Given the description of an element on the screen output the (x, y) to click on. 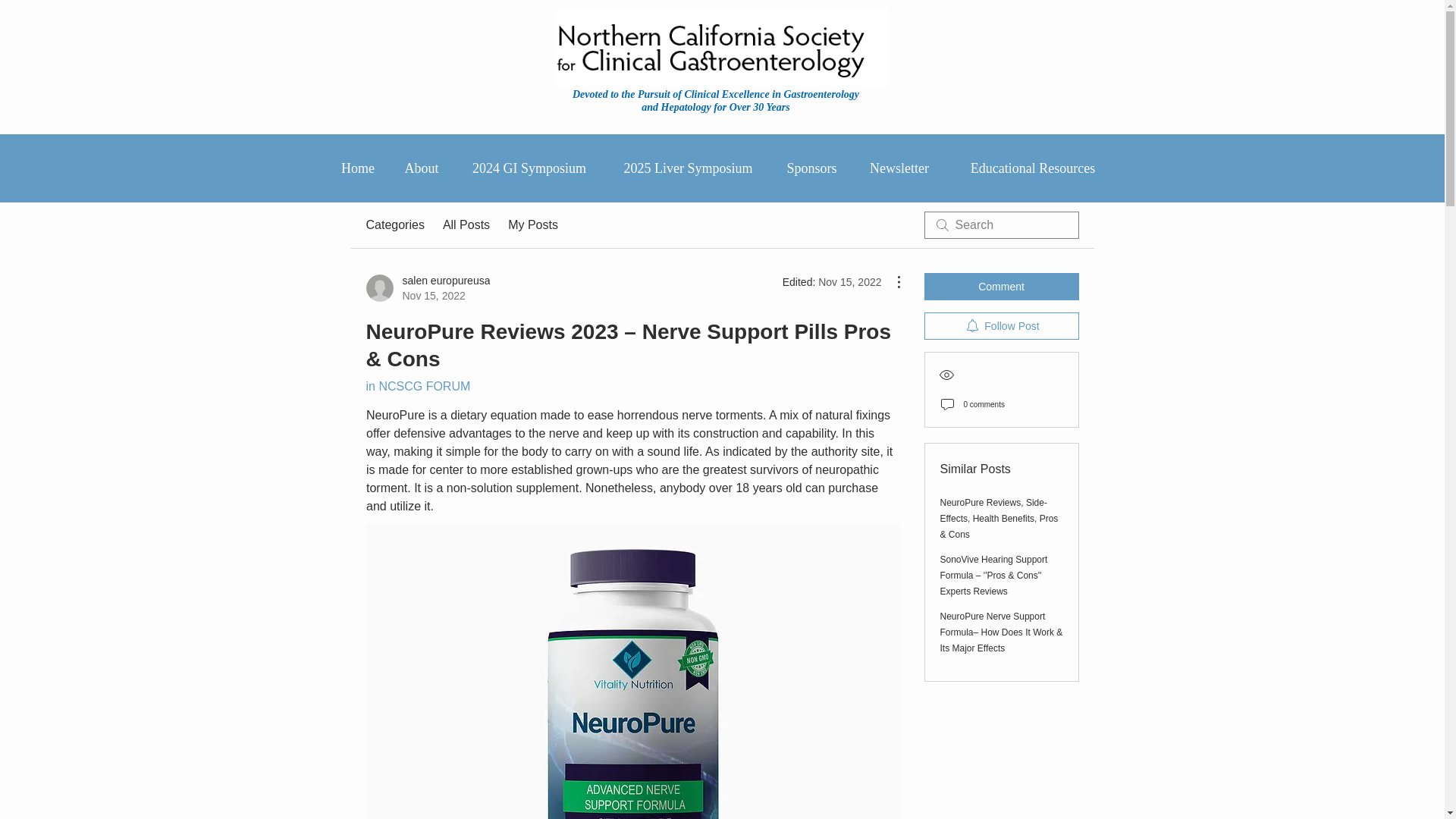
About (421, 168)
All Posts (427, 287)
My Posts (465, 225)
2024 GI Symposium (532, 225)
2025 Liver Symposium (528, 168)
in NCSCG FORUM (688, 168)
Newsletter (417, 386)
Home (898, 168)
Categories (358, 168)
Educational Resources (394, 225)
